Given the description of an element on the screen output the (x, y) to click on. 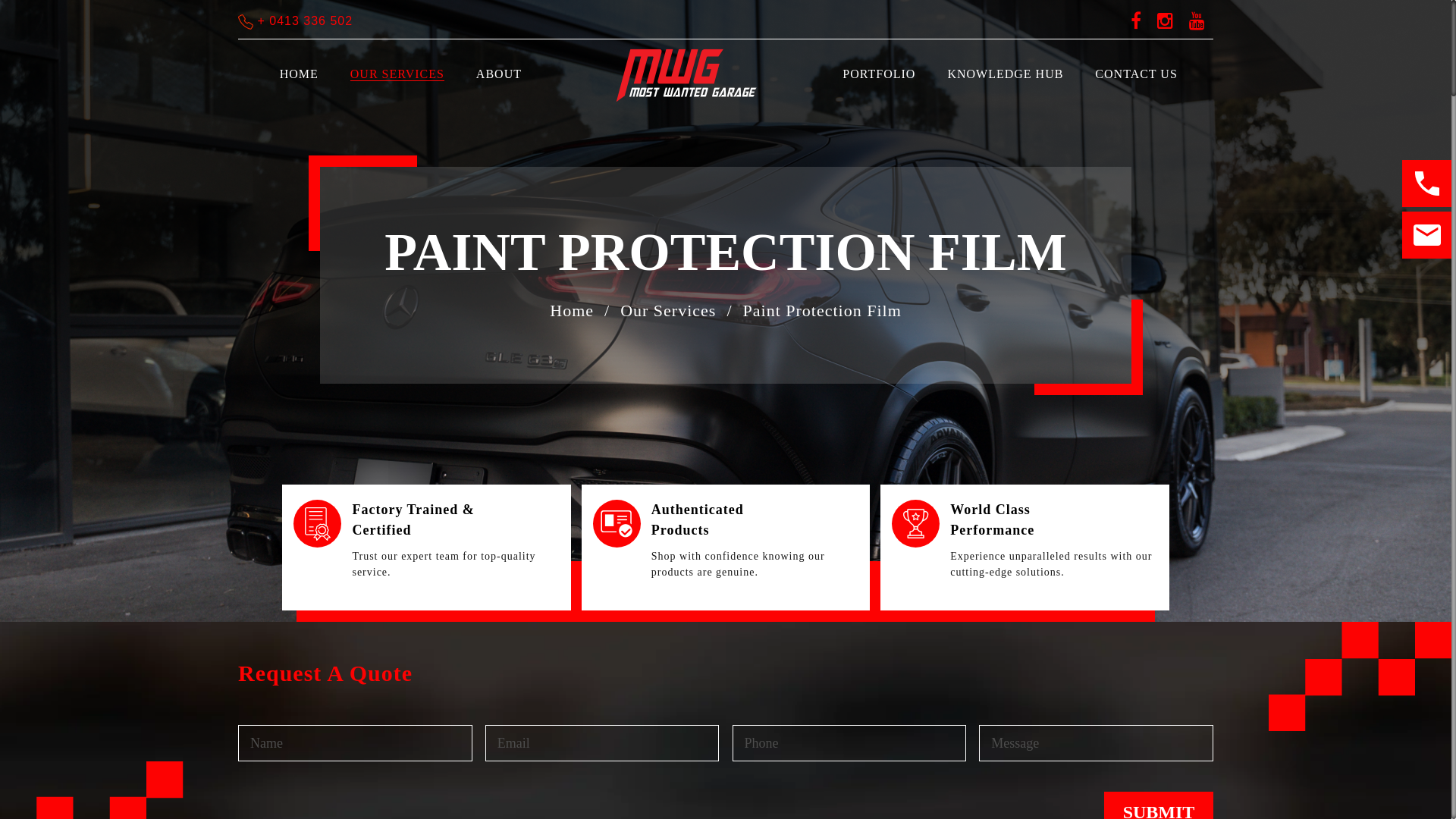
HOME Element type: text (298, 73)
CONTACT US Element type: text (1135, 73)
ABOUT Element type: text (498, 73)
Home Element type: text (571, 310)
Our Services Element type: text (668, 310)
+ 0413 336 502 Element type: text (295, 21)
PORTFOLIO Element type: text (878, 73)
OUR SERVICES Element type: text (397, 74)
KNOWLEDGE HUB Element type: text (1005, 73)
